Given the description of an element on the screen output the (x, y) to click on. 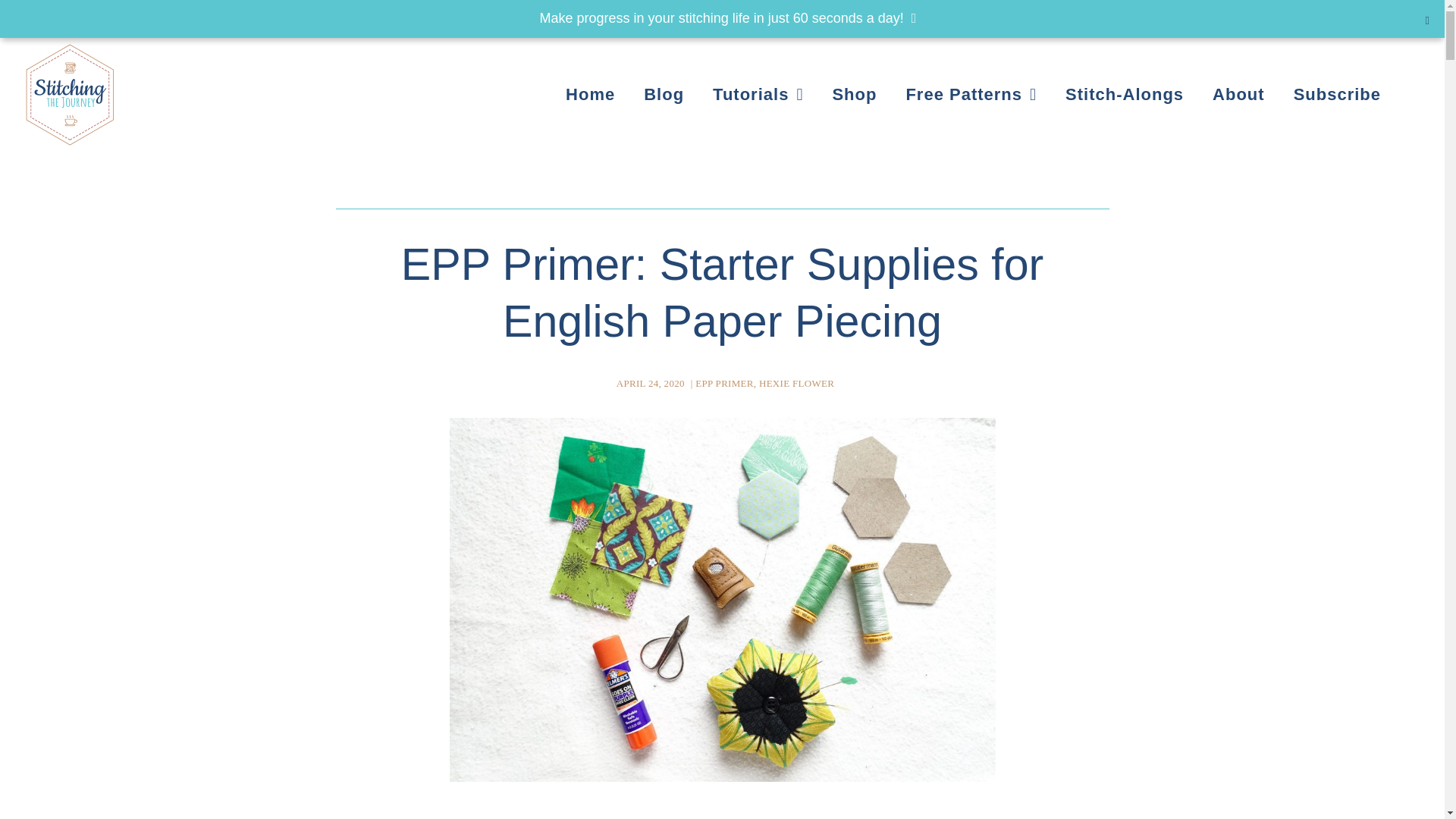
Shop (853, 94)
About (1238, 94)
Blog (663, 94)
Stitch-Alongs (1123, 94)
Free Patterns (970, 94)
Subscribe (1336, 94)
Tutorials (757, 94)
Home (590, 94)
